Given the description of an element on the screen output the (x, y) to click on. 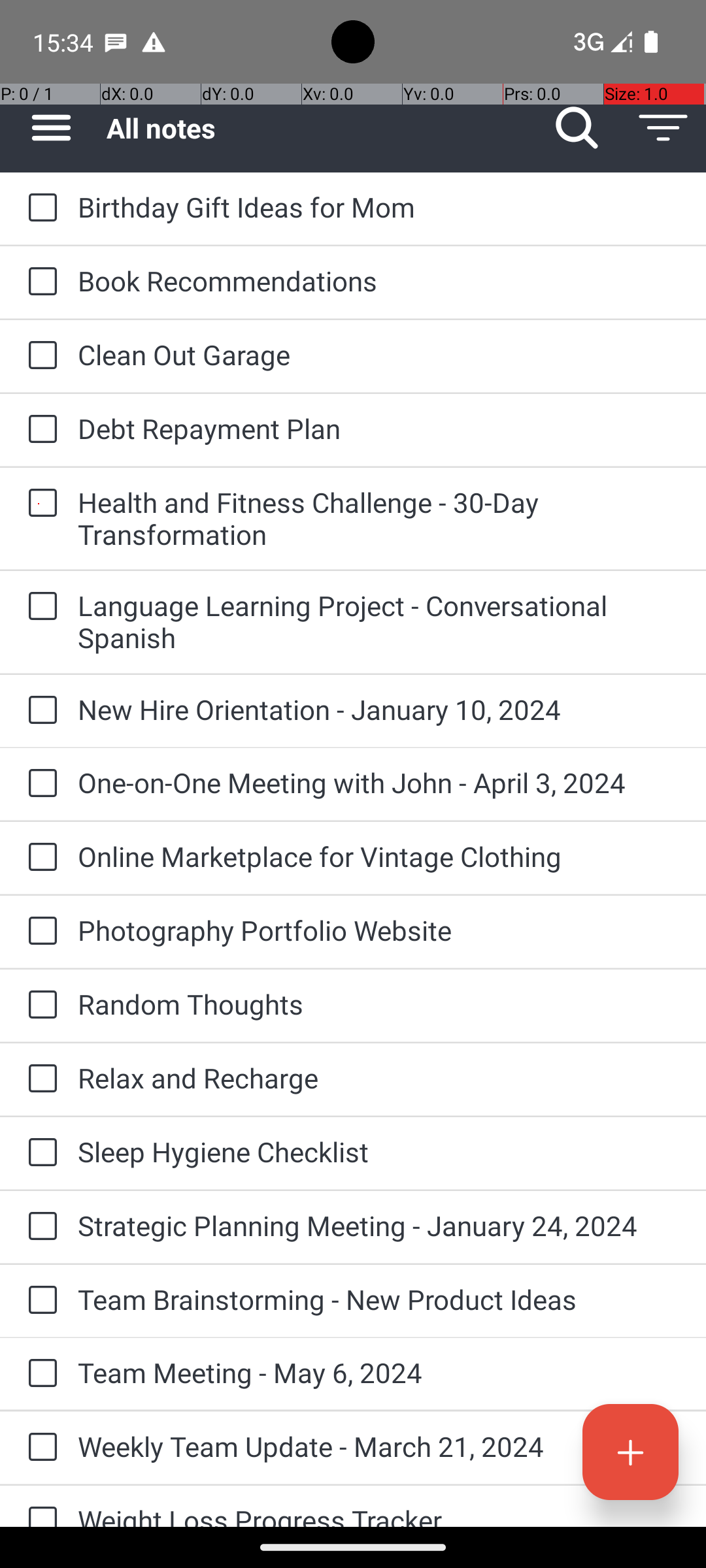
to-do: Birthday Gift Ideas for Mom Element type: android.widget.CheckBox (38, 208)
Birthday Gift Ideas for Mom Element type: android.widget.TextView (378, 206)
to-do: Book Recommendations Element type: android.widget.CheckBox (38, 282)
Book Recommendations Element type: android.widget.TextView (378, 280)
to-do: Clean Out Garage Element type: android.widget.CheckBox (38, 356)
Clean Out Garage Element type: android.widget.TextView (378, 354)
to-do: Debt Repayment Plan Element type: android.widget.CheckBox (38, 429)
Debt Repayment Plan Element type: android.widget.TextView (378, 427)
to-do: Health and Fitness Challenge - 30-Day Transformation Element type: android.widget.CheckBox (38, 503)
Health and Fitness Challenge - 30-Day Transformation Element type: android.widget.TextView (378, 517)
to-do: Language Learning Project - Conversational Spanish Element type: android.widget.CheckBox (38, 606)
Language Learning Project - Conversational Spanish Element type: android.widget.TextView (378, 620)
to-do: New Hire Orientation - January 10, 2024 Element type: android.widget.CheckBox (38, 710)
New Hire Orientation - January 10, 2024 Element type: android.widget.TextView (378, 708)
to-do: One-on-One Meeting with John - April 3, 2024 Element type: android.widget.CheckBox (38, 783)
One-on-One Meeting with John - April 3, 2024 Element type: android.widget.TextView (378, 781)
to-do: Online Marketplace for Vintage Clothing Element type: android.widget.CheckBox (38, 857)
Online Marketplace for Vintage Clothing Element type: android.widget.TextView (378, 855)
to-do: Photography Portfolio Website Element type: android.widget.CheckBox (38, 931)
Photography Portfolio Website Element type: android.widget.TextView (378, 929)
to-do: Random Thoughts Element type: android.widget.CheckBox (38, 1005)
Random Thoughts Element type: android.widget.TextView (378, 1003)
to-do: Relax and Recharge Element type: android.widget.CheckBox (38, 1079)
Relax and Recharge Element type: android.widget.TextView (378, 1077)
to-do: Sleep Hygiene Checklist Element type: android.widget.CheckBox (38, 1153)
Sleep Hygiene Checklist Element type: android.widget.TextView (378, 1151)
to-do: Strategic Planning Meeting - January 24, 2024 Element type: android.widget.CheckBox (38, 1226)
Strategic Planning Meeting - January 24, 2024 Element type: android.widget.TextView (378, 1224)
to-do: Team Brainstorming - New Product Ideas Element type: android.widget.CheckBox (38, 1300)
Team Brainstorming - New Product Ideas Element type: android.widget.TextView (378, 1298)
to-do: Team Meeting - May 6, 2024 Element type: android.widget.CheckBox (38, 1373)
Team Meeting - May 6, 2024 Element type: android.widget.TextView (378, 1371)
to-do: Weekly Team Update - March 21, 2024 Element type: android.widget.CheckBox (38, 1447)
Weekly Team Update - March 21, 2024 Element type: android.widget.TextView (378, 1445)
to-do: Weight Loss Progress Tracker Element type: android.widget.CheckBox (38, 1505)
Weight Loss Progress Tracker Element type: android.widget.TextView (378, 1513)
